Given the description of an element on the screen output the (x, y) to click on. 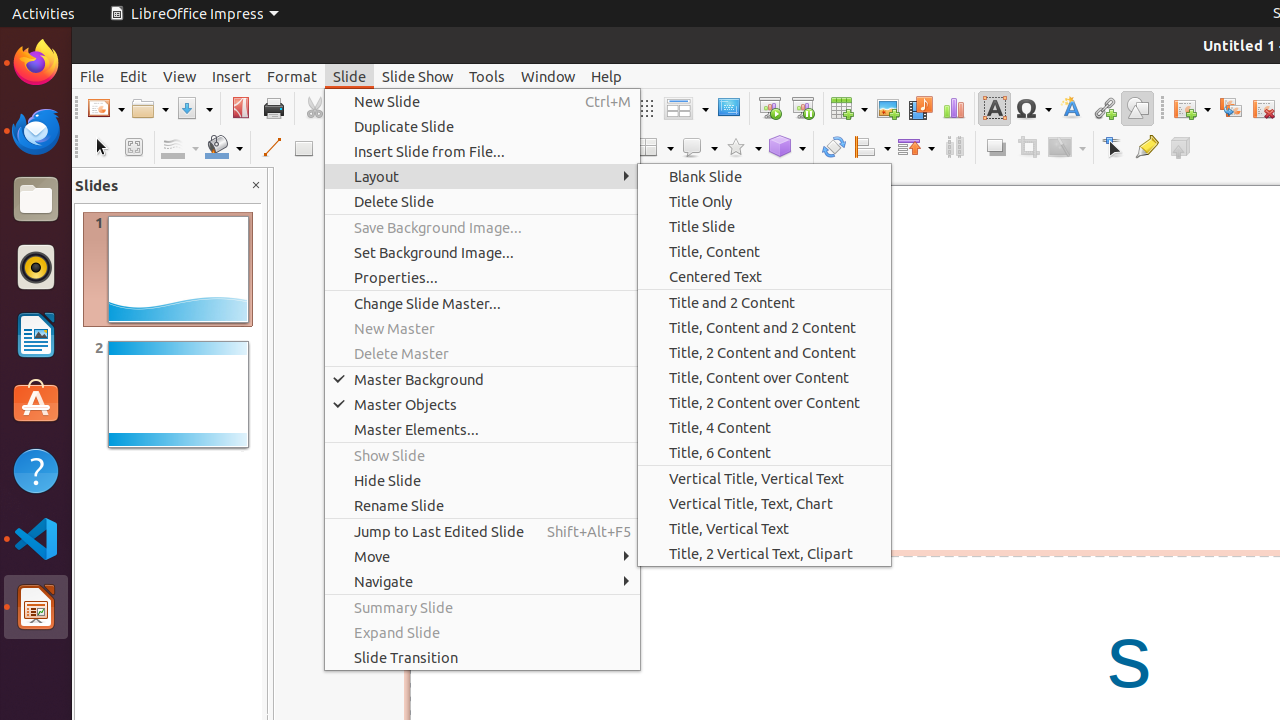
Slide Element type: menu (349, 76)
Slide Transition Element type: menu-item (482, 657)
Centered Text Element type: menu-item (764, 276)
Select Element type: push-button (100, 147)
Set Background Image... Element type: menu-item (482, 252)
